Given the description of an element on the screen output the (x, y) to click on. 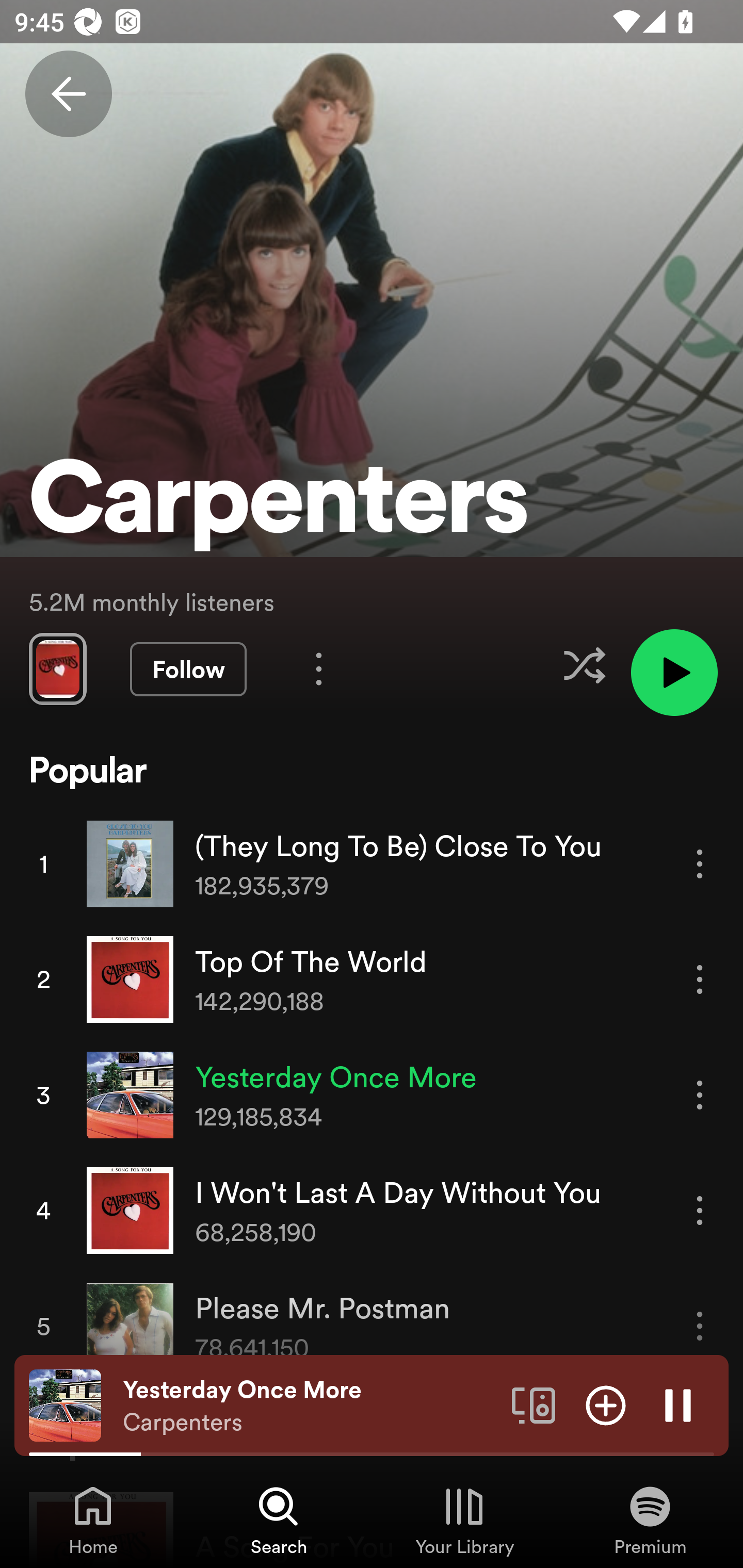
Back (68, 93)
Enable shuffle for this artist (583, 665)
Swipe through previews of tracks from this artist. (57, 668)
More options for artist Carpenters (318, 668)
Play artist (674, 672)
Follow (188, 669)
More options for song Top Of The World (699, 979)
More options for song Yesterday Once More (699, 1095)
More options for song Please Mr. Postman (699, 1325)
Yesterday Once More Carpenters (309, 1405)
The cover art of the currently playing track (64, 1404)
Connect to a device. Opens the devices menu (533, 1404)
Add item (605, 1404)
Pause (677, 1404)
Home, Tab 1 of 4 Home Home (92, 1519)
Search, Tab 2 of 4 Search Search (278, 1519)
Your Library, Tab 3 of 4 Your Library Your Library (464, 1519)
Premium, Tab 4 of 4 Premium Premium (650, 1519)
